Given the description of an element on the screen output the (x, y) to click on. 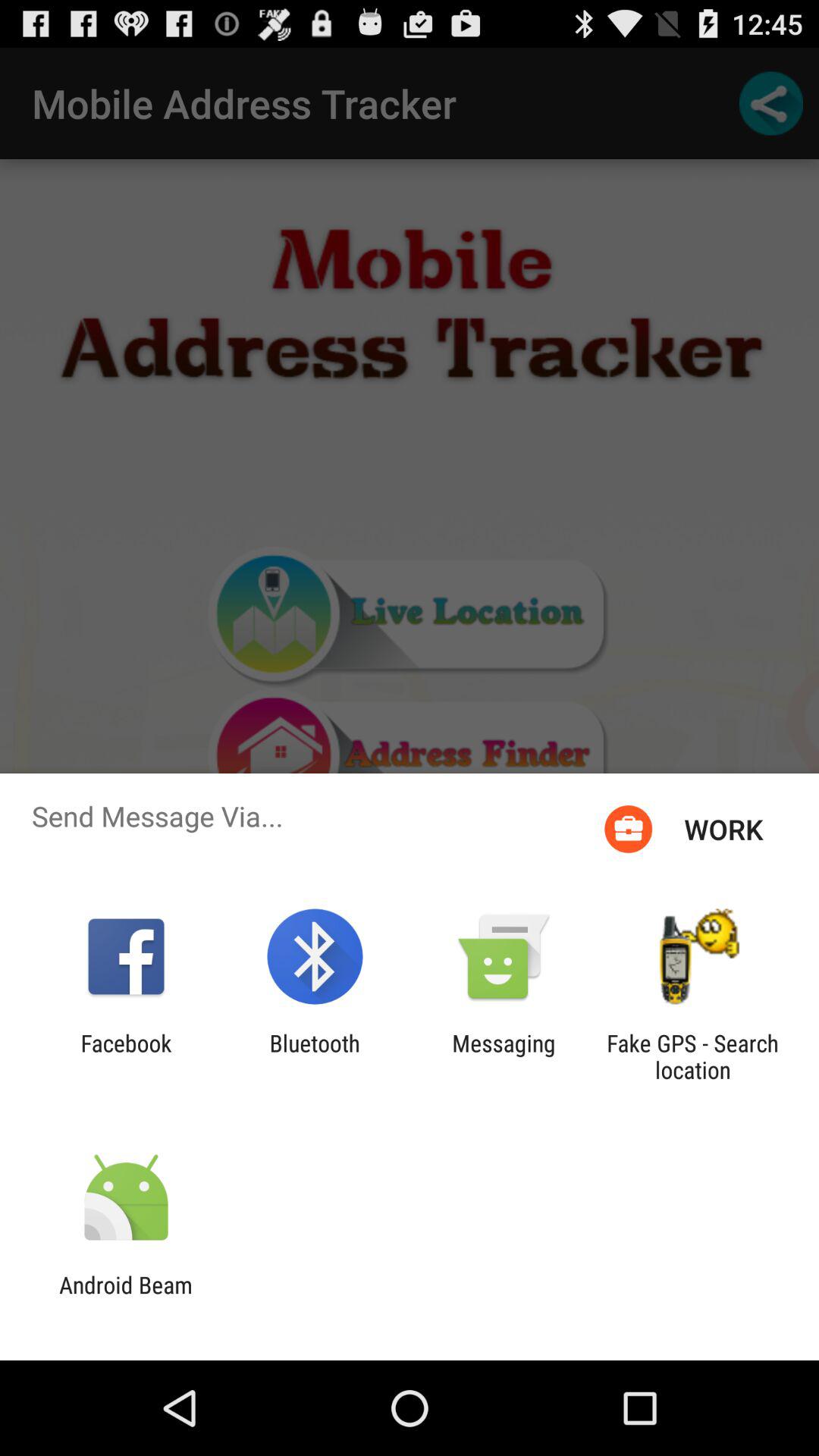
tap app to the left of the fake gps search item (503, 1056)
